Given the description of an element on the screen output the (x, y) to click on. 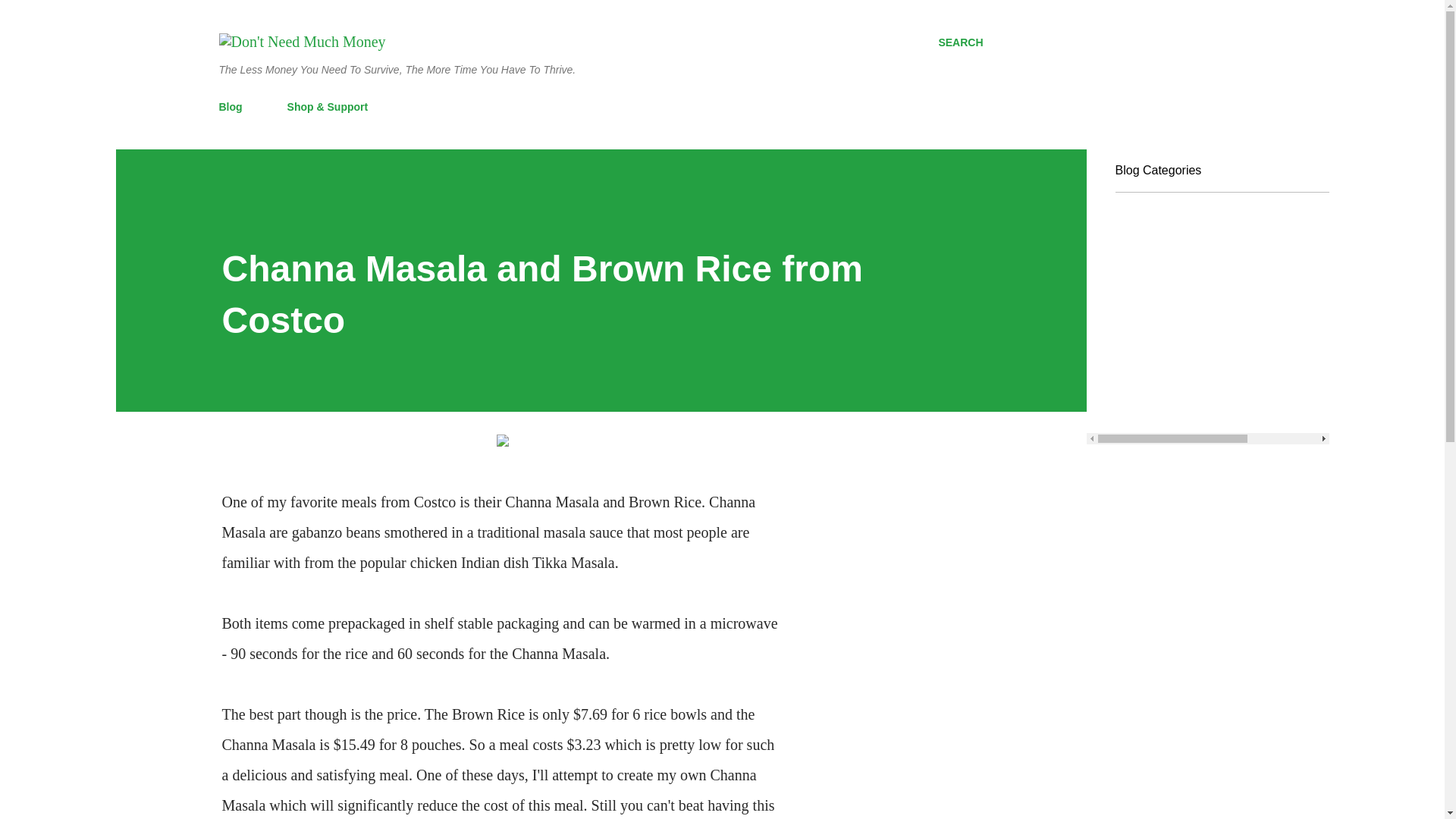
Blog (234, 106)
SEARCH (959, 42)
